Given the description of an element on the screen output the (x, y) to click on. 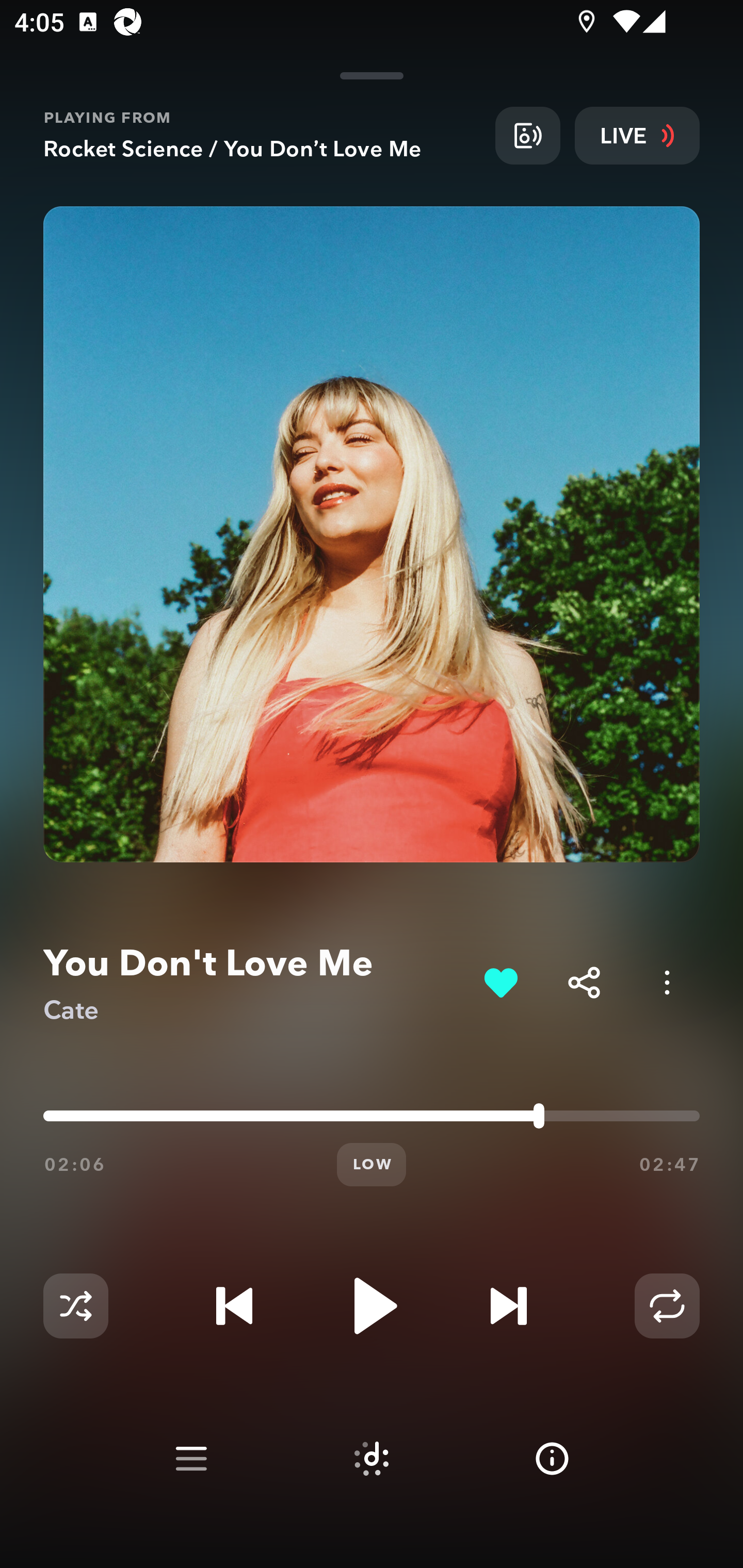
Broadcast (527, 135)
LIVE (637, 135)
PLAYING FROM Rocket Science / You Don’t Love Me (261, 135)
You Don't Love Me Cate (255, 983)
Remove from My Collection (500, 982)
Share (583, 982)
Options (666, 982)
LOW (371, 1164)
Play (371, 1306)
Previous (234, 1306)
Next (508, 1306)
Shuffle enabled (75, 1306)
Repeat All (666, 1306)
Play queue (191, 1458)
Suggested tracks (371, 1458)
Info (551, 1458)
